Given the description of an element on the screen output the (x, y) to click on. 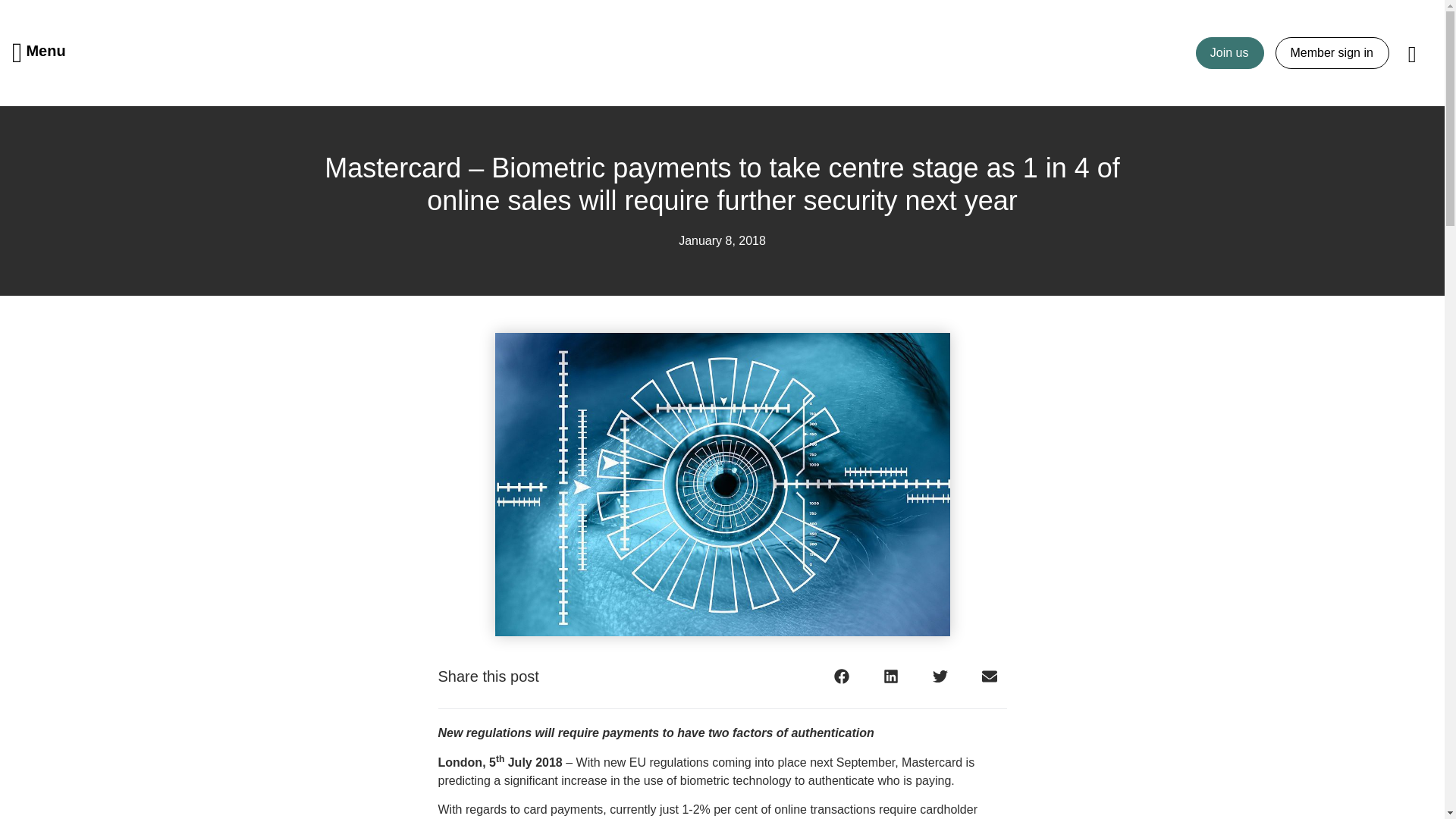
Join us (1230, 51)
Member sign in (1332, 51)
January 8, 2018 (721, 240)
Menu (39, 52)
